Given the description of an element on the screen output the (x, y) to click on. 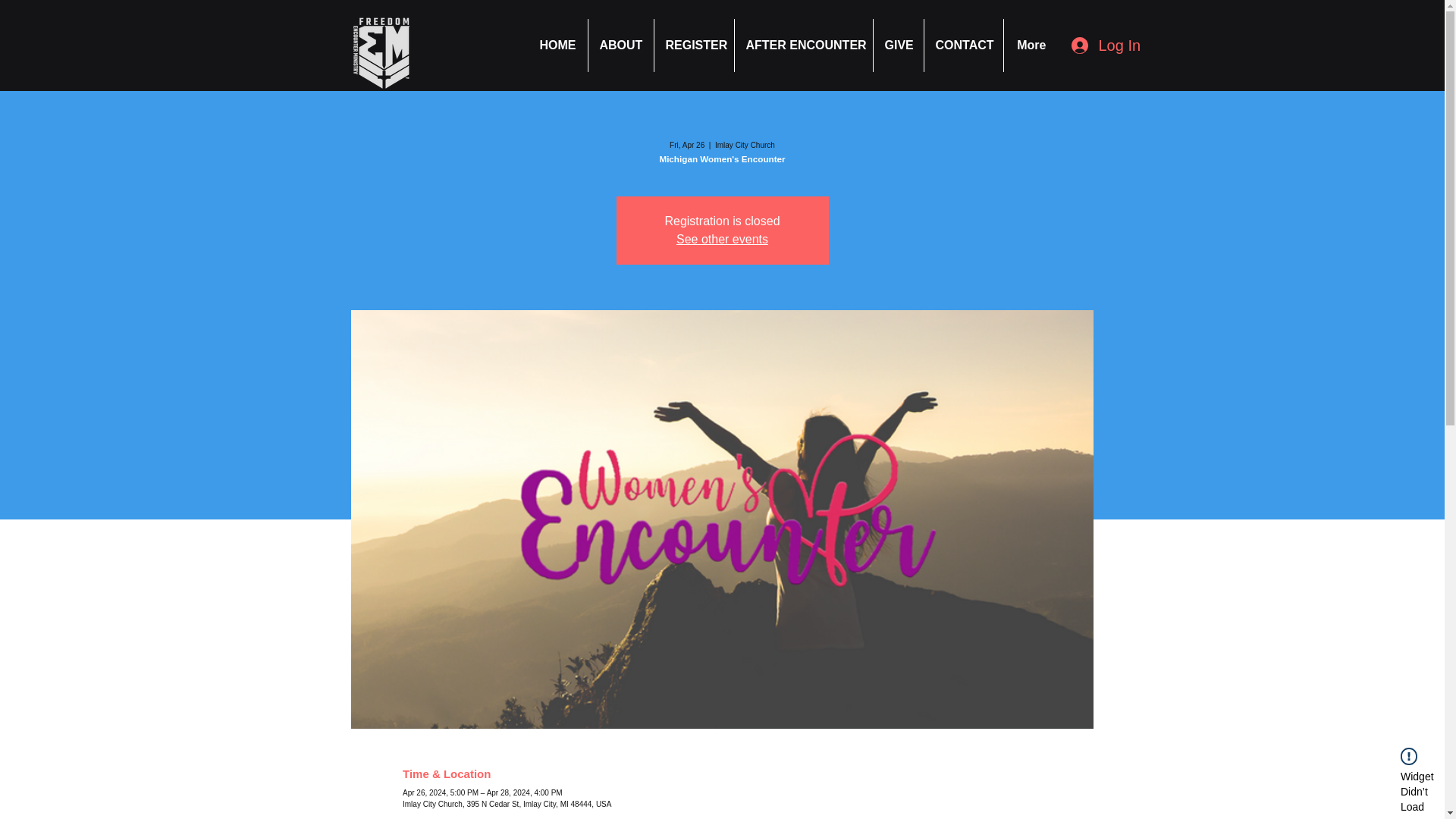
CONTACT (963, 45)
HOME (557, 45)
ABOUT (620, 45)
GIVE (898, 45)
Log In (1090, 45)
See other events (722, 238)
AFTER ENCOUNTER (802, 45)
REGISTER (693, 45)
